Given the description of an element on the screen output the (x, y) to click on. 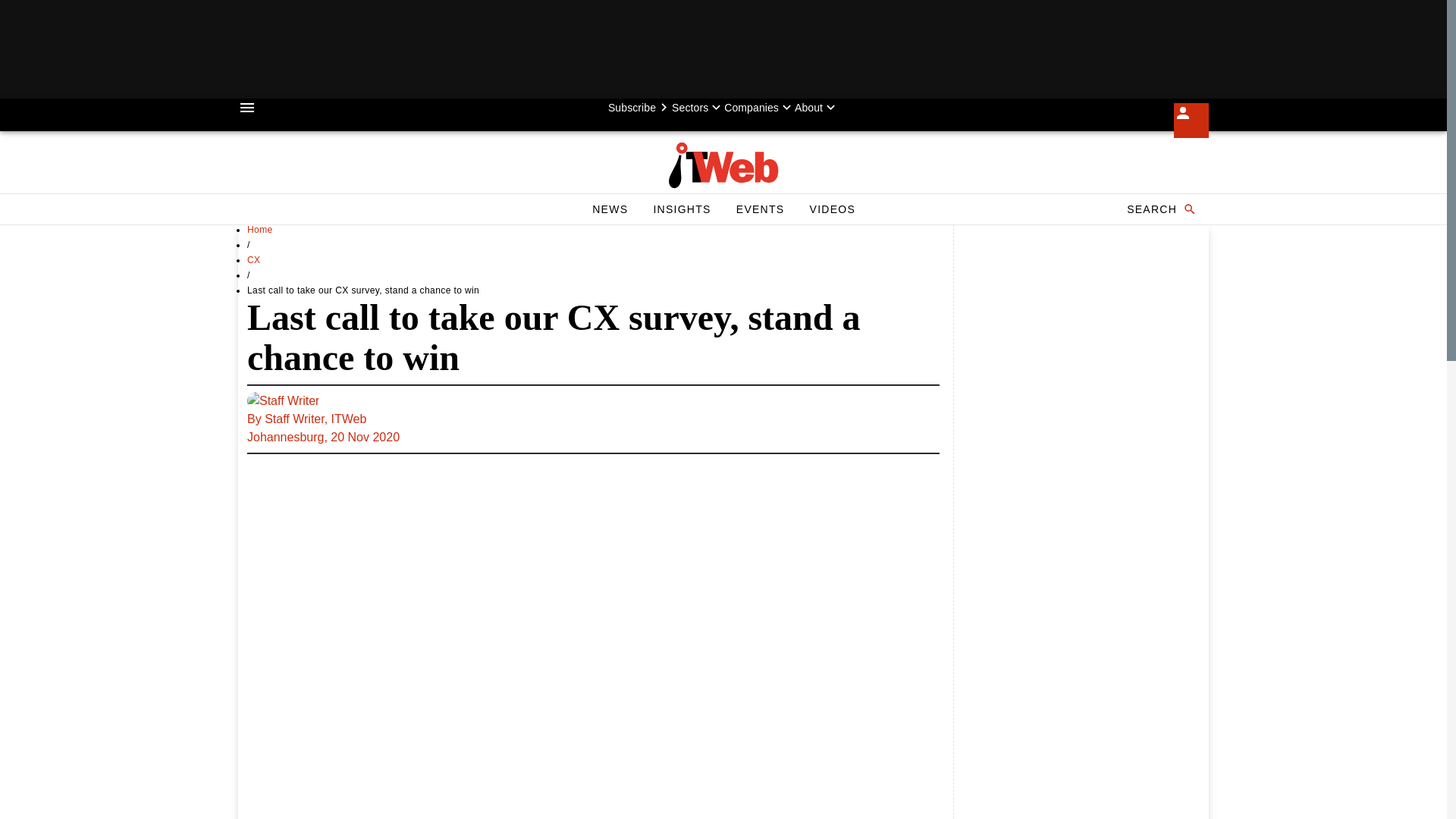
EVENTS (759, 208)
Home (260, 229)
NEWS (609, 208)
CX (593, 419)
VIDEOS (253, 259)
INSIGHTS (831, 208)
Subscribe (681, 208)
SEARCH (639, 107)
